Given the description of an element on the screen output the (x, y) to click on. 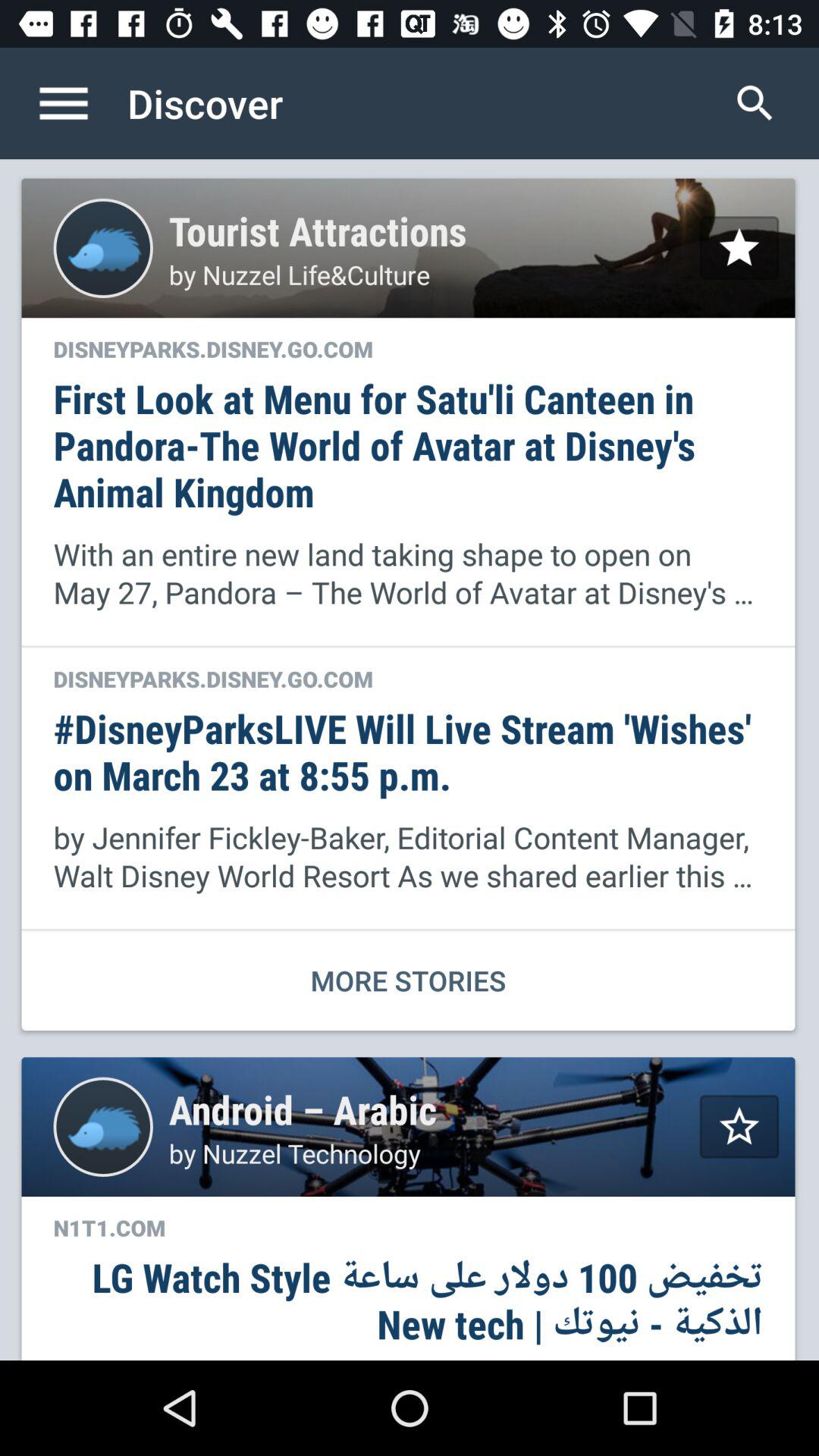
turn on icon next to the discover icon (755, 103)
